Given the description of an element on the screen output the (x, y) to click on. 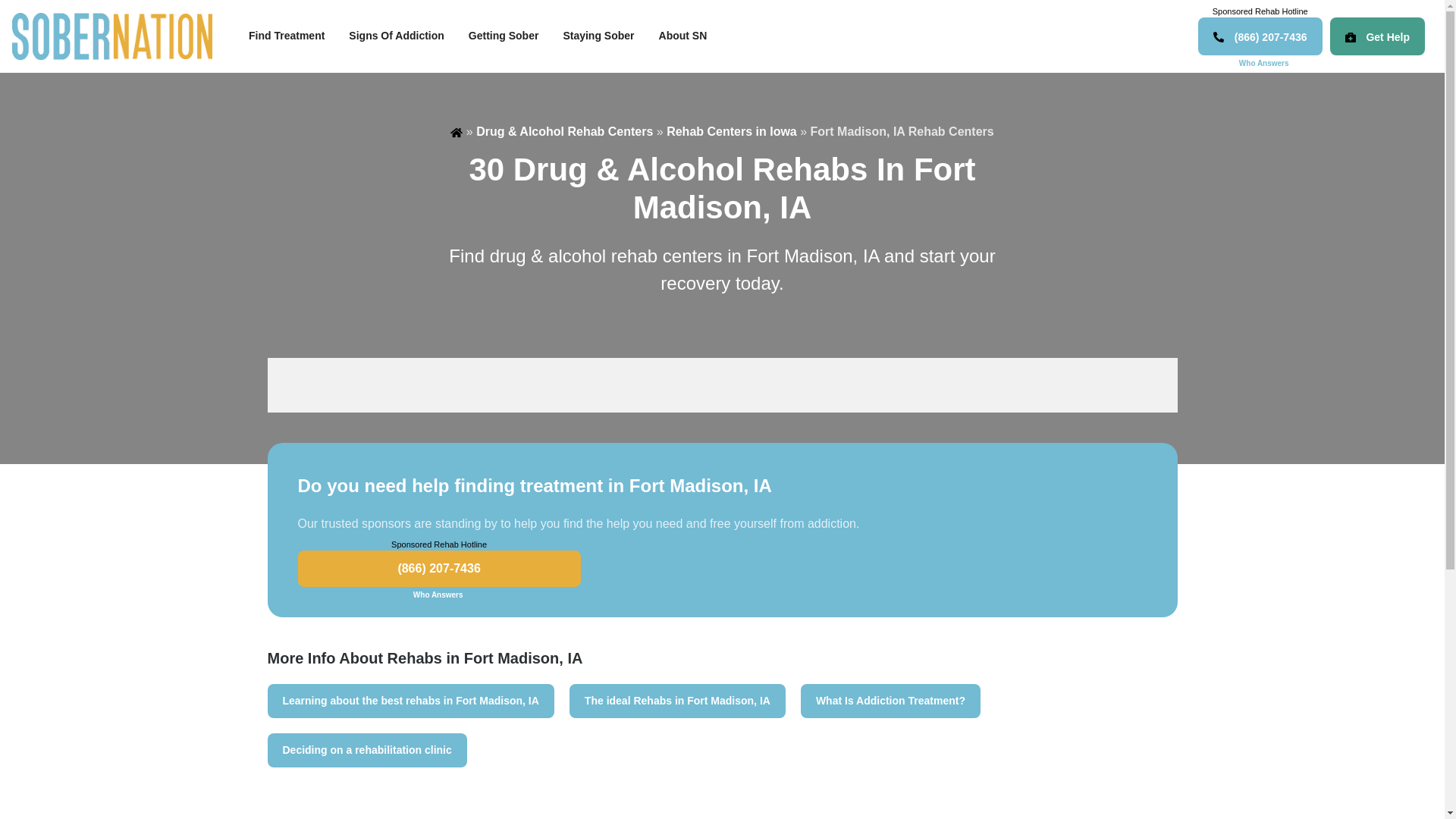
Signs Of Addiction (395, 36)
Find Treatment (285, 36)
Getting Sober (504, 36)
